Given the description of an element on the screen output the (x, y) to click on. 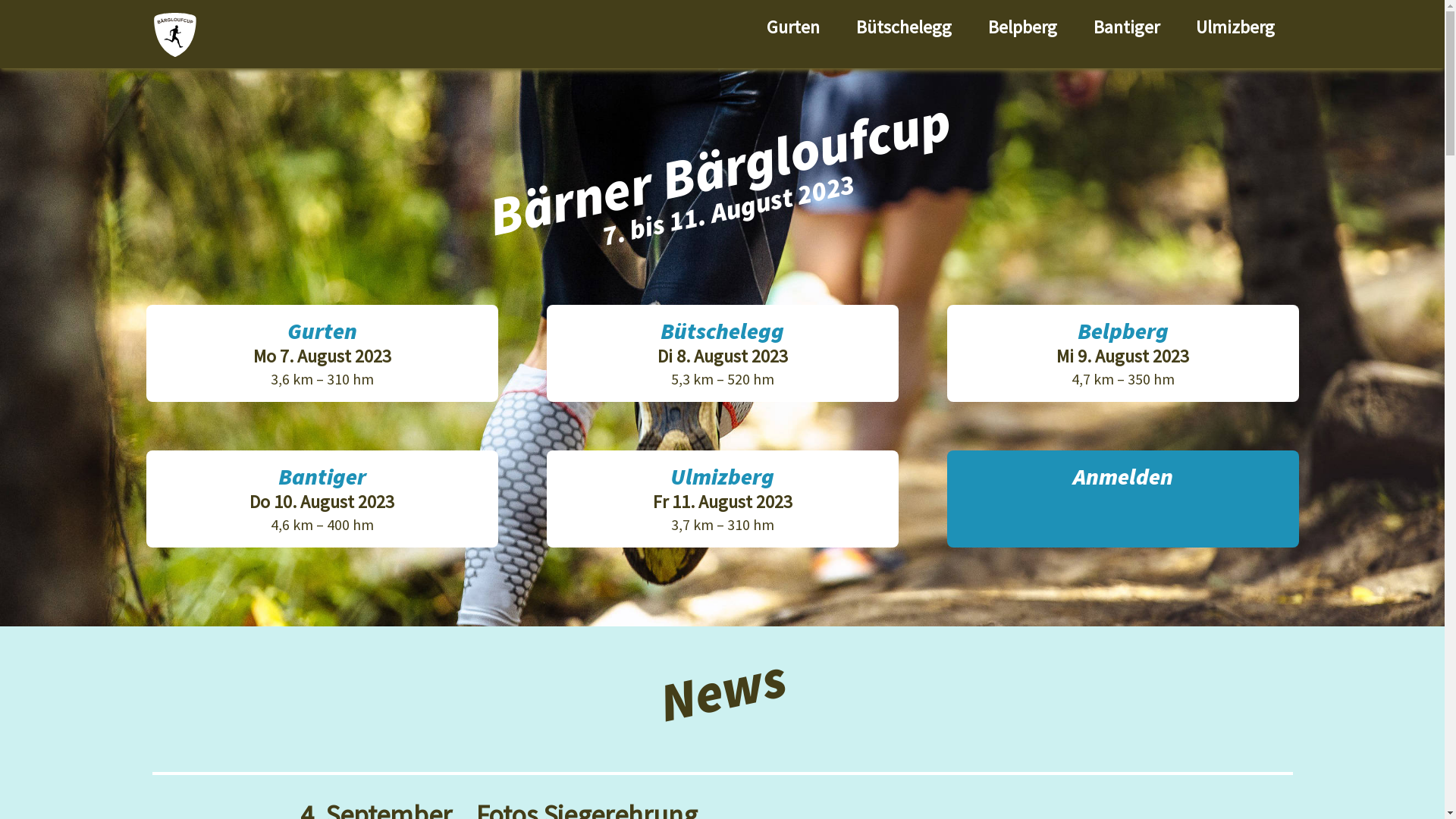
Belpberg Element type: text (1021, 26)
Gurten Element type: text (792, 26)
Anmelden Element type: text (1122, 498)
Ulmizberg Element type: text (1234, 26)
Bantiger Element type: text (1126, 26)
